Given the description of an element on the screen output the (x, y) to click on. 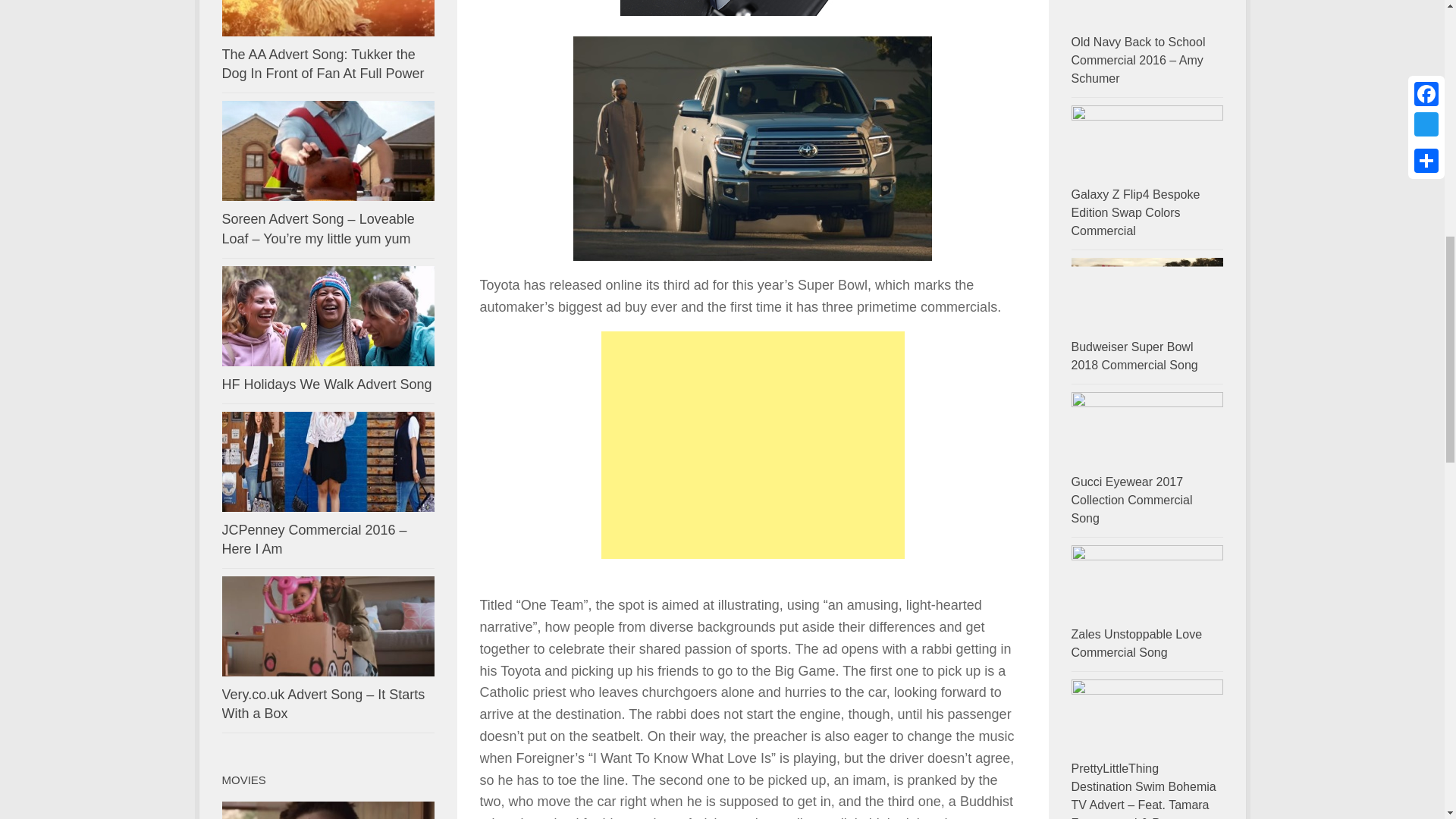
HF Holidays We Walk Advert Song (325, 384)
HF Holidays We Walk Advert Song (327, 316)
HF Holidays We Walk Advert Song (325, 384)
